Given the description of an element on the screen output the (x, y) to click on. 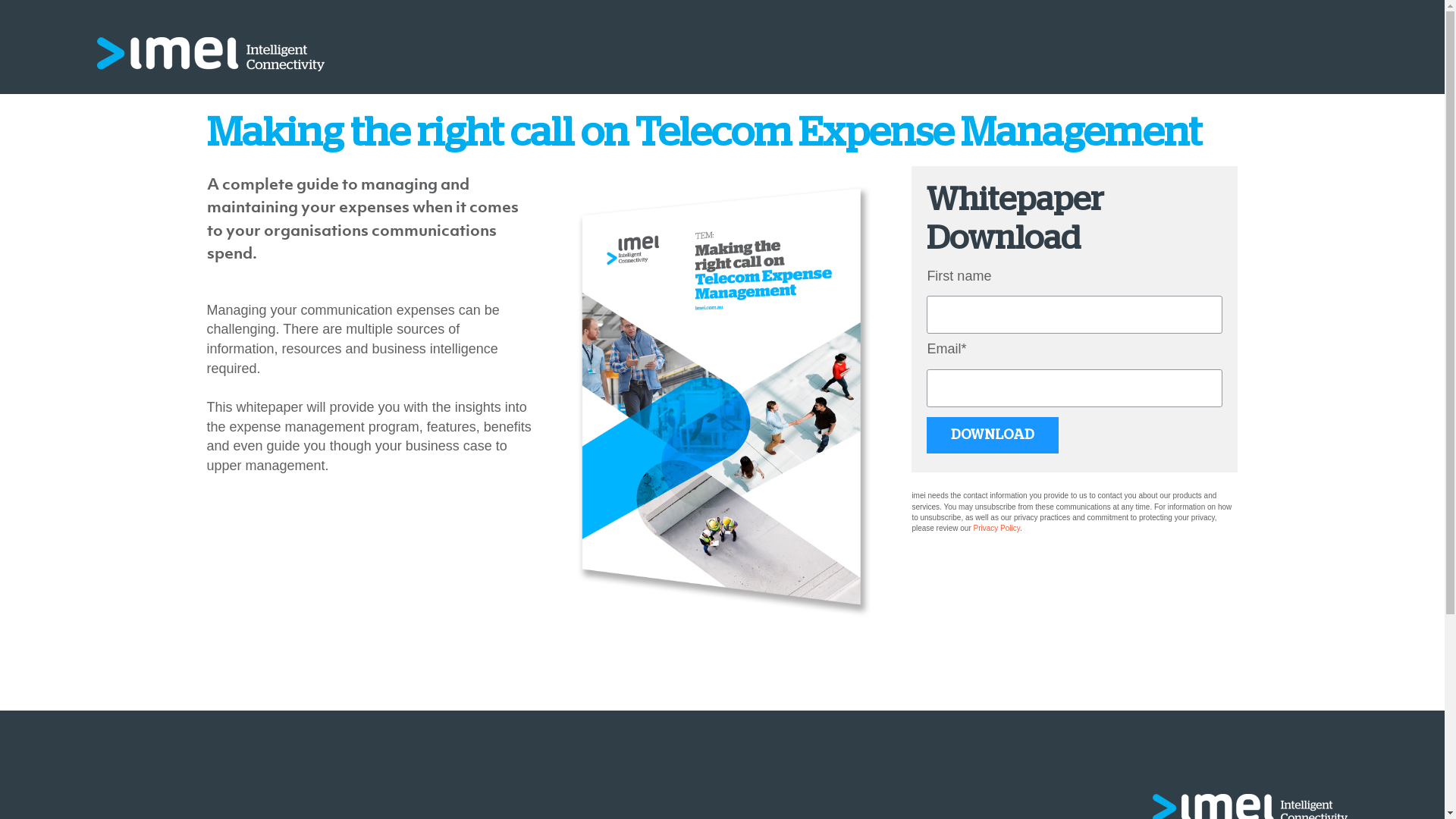
WP_TEM_cover_ Element type: hover (721, 396)
imei pty ltd Element type: hover (210, 54)
Privacy Policy Element type: text (996, 528)
Download Element type: text (992, 435)
